Given the description of an element on the screen output the (x, y) to click on. 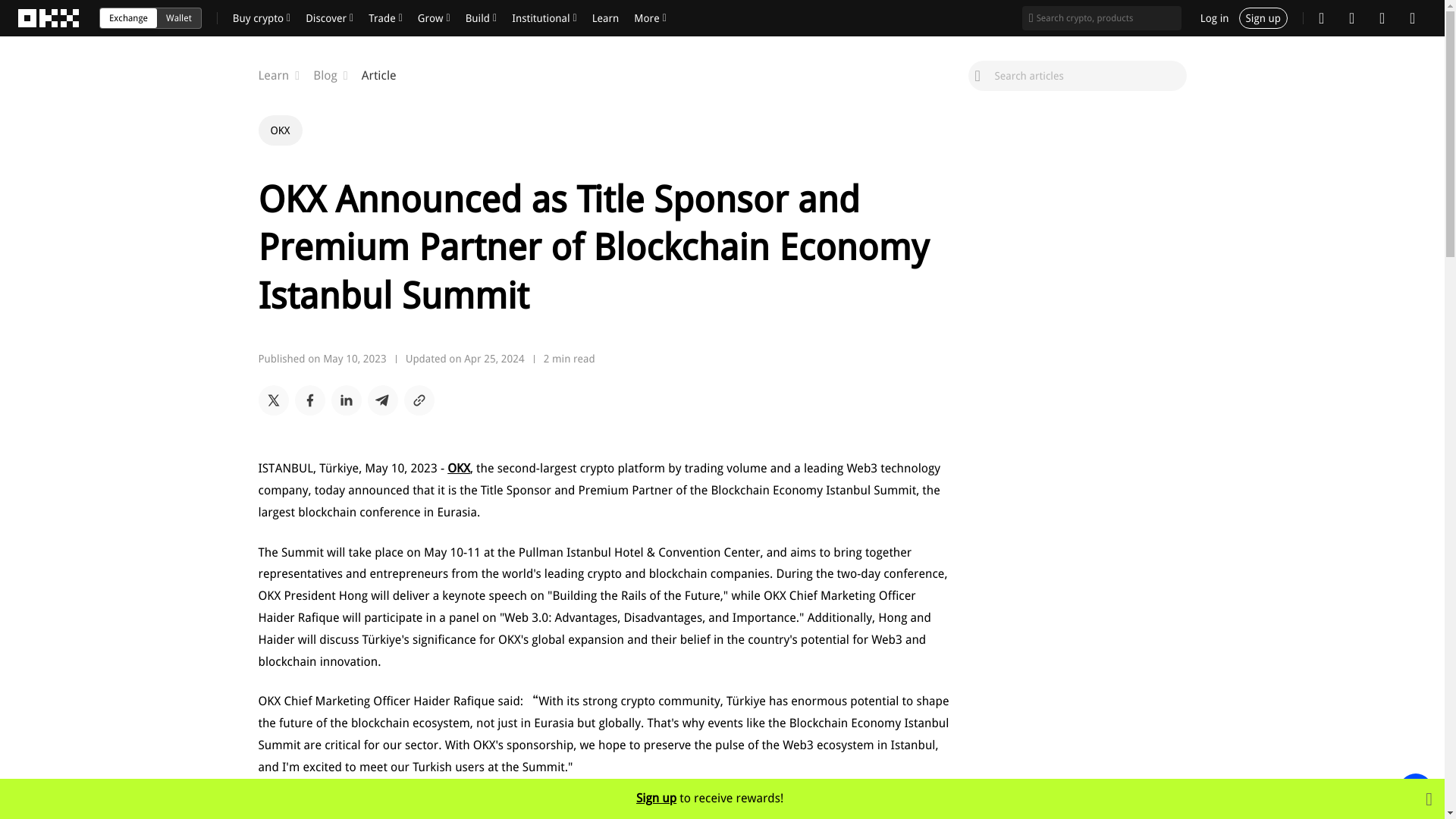
Exchange (603, 75)
Wallet (128, 17)
OKX (603, 75)
